Given the description of an element on the screen output the (x, y) to click on. 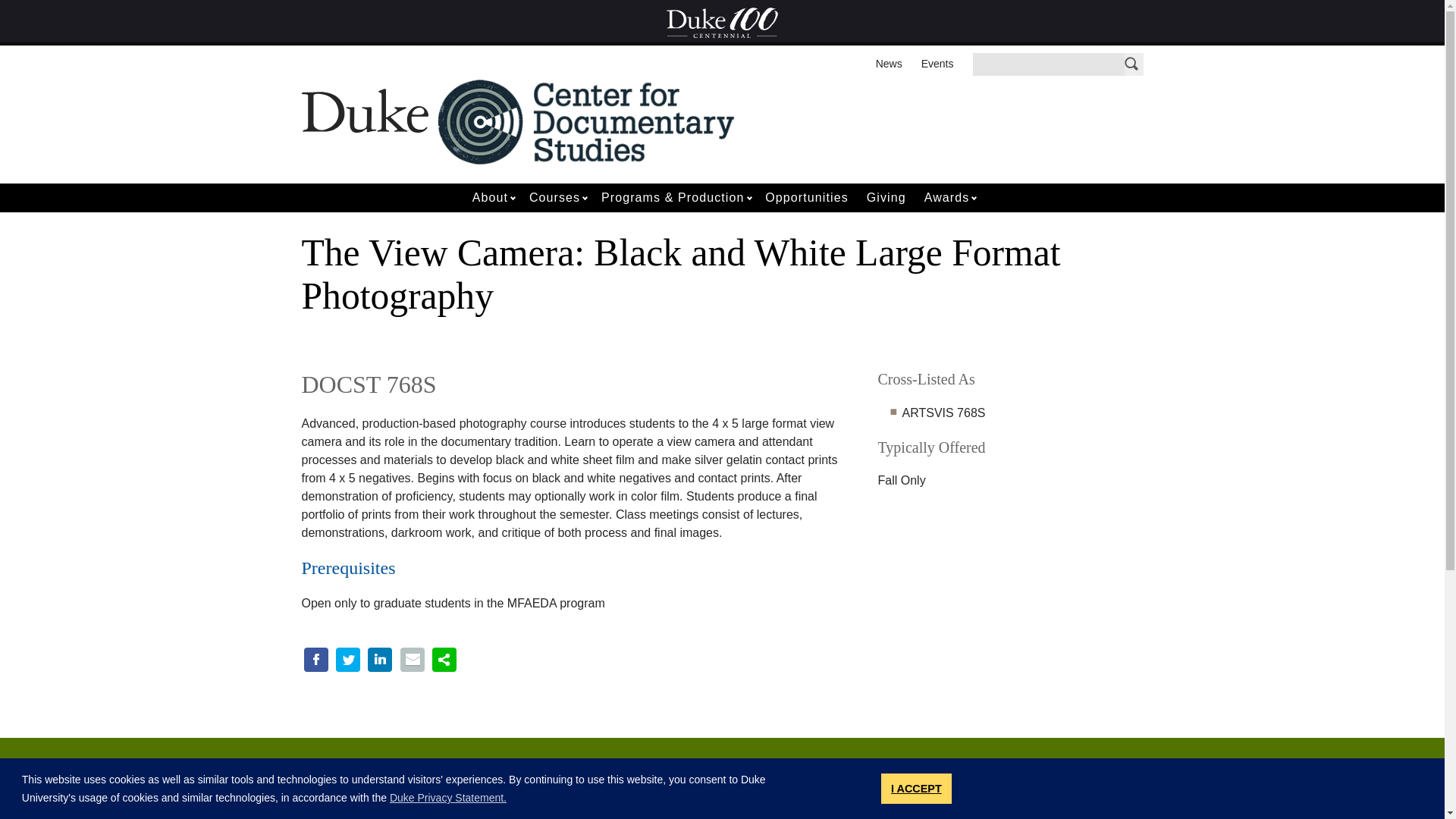
Center for Documentary Studies (586, 120)
Duke Privacy Statement. (448, 797)
I ACCEPT (916, 788)
